Given the description of an element on the screen output the (x, y) to click on. 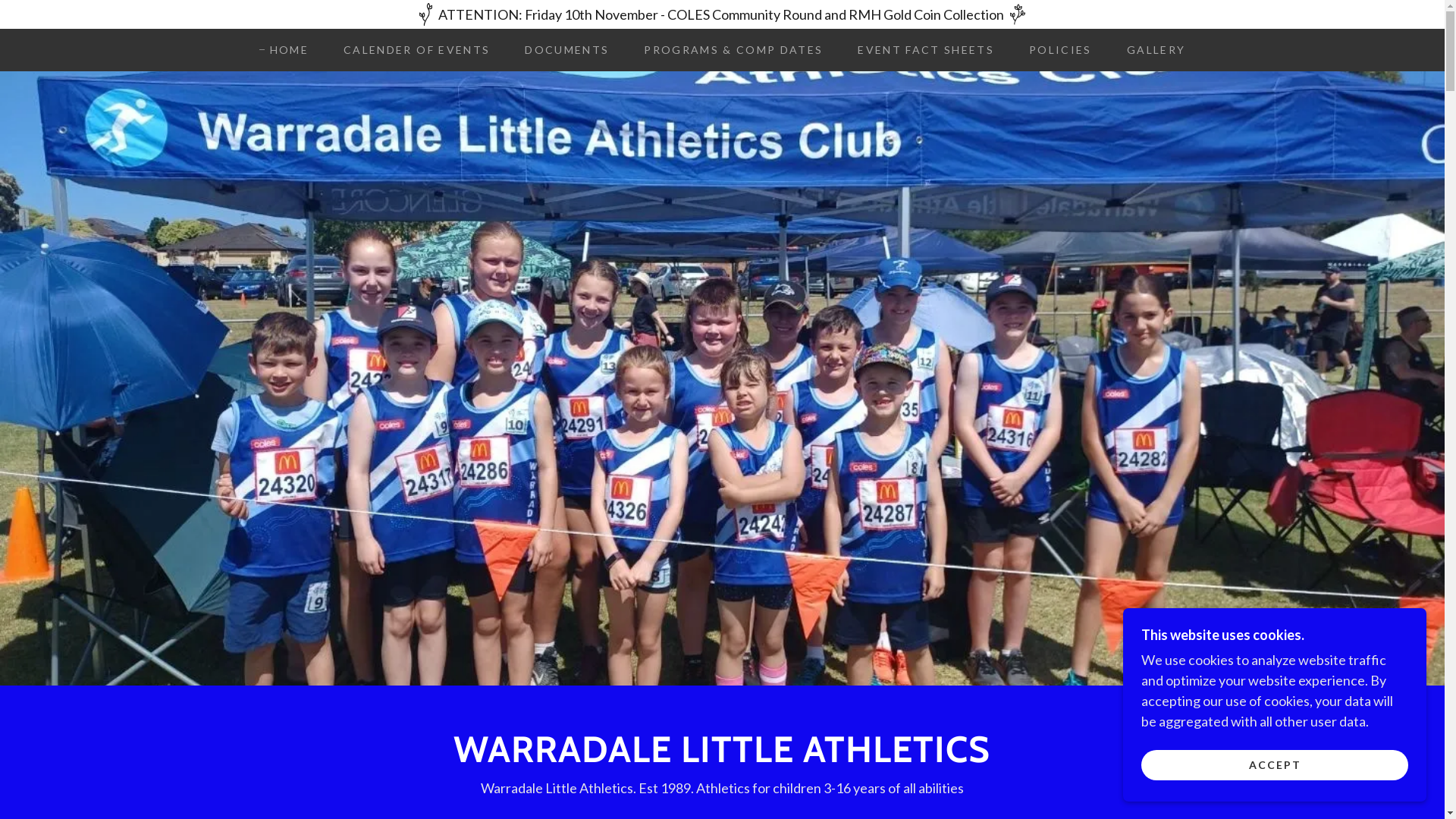
EVENT FACT SHEETS Element type: text (920, 49)
PROGRAMS & COMP DATES Element type: text (727, 49)
CALENDER OF EVENTS Element type: text (411, 49)
HOME Element type: text (283, 49)
ACCEPT Element type: text (1274, 764)
GALLERY Element type: text (1150, 49)
POLICIES Element type: text (1054, 49)
DOCUMENTS Element type: text (561, 49)
